Given the description of an element on the screen output the (x, y) to click on. 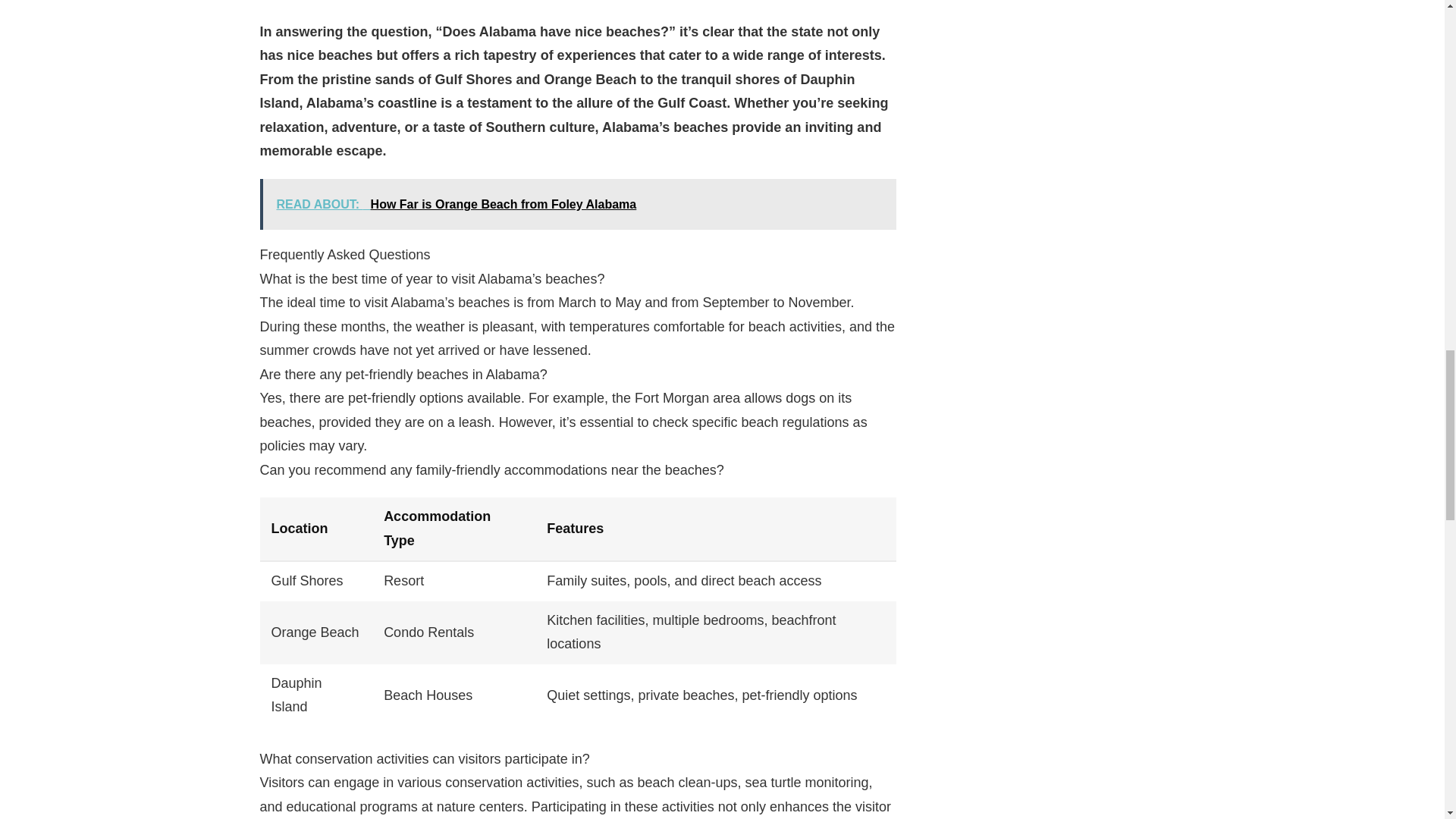
READ ABOUT:   How Far is Orange Beach from Foley Alabama (577, 204)
